Given the description of an element on the screen output the (x, y) to click on. 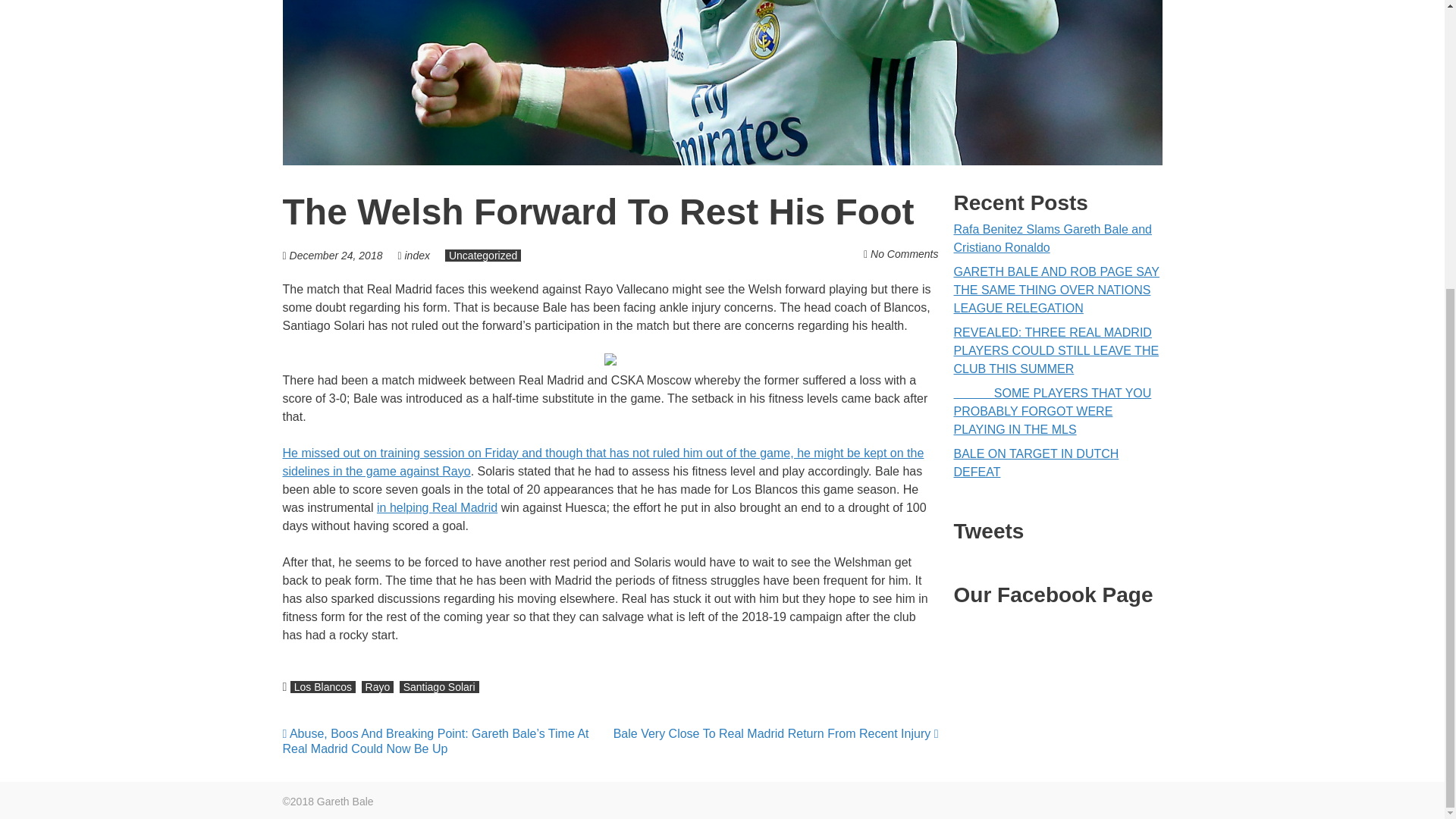
No Comments (903, 254)
Rayo (377, 686)
BALE ON TARGET IN DUTCH DEFEAT (1036, 462)
Uncategorized (483, 255)
Bale Very Close To Real Madrid Return From Recent Injury (775, 733)
December 24, 2018 (335, 255)
View all posts by index (416, 255)
